Given the description of an element on the screen output the (x, y) to click on. 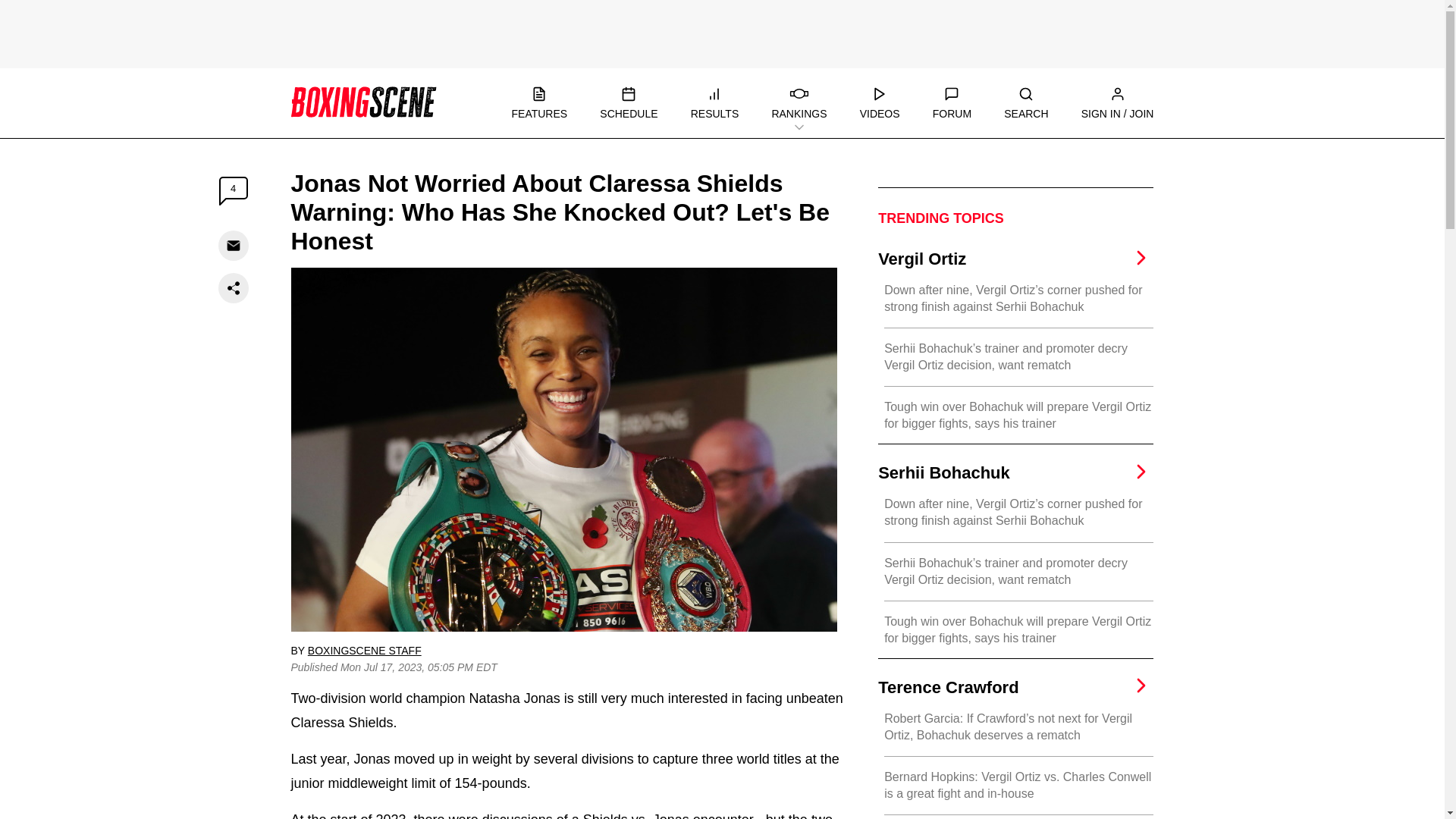
BOXINGSCENE STAFF (364, 650)
SEARCH (1026, 102)
RANKINGS (799, 102)
FEATURES (539, 102)
SCHEDULE (628, 102)
RESULTS (714, 102)
4 (233, 191)
FORUM (952, 102)
VIDEOS (879, 102)
